Given the description of an element on the screen output the (x, y) to click on. 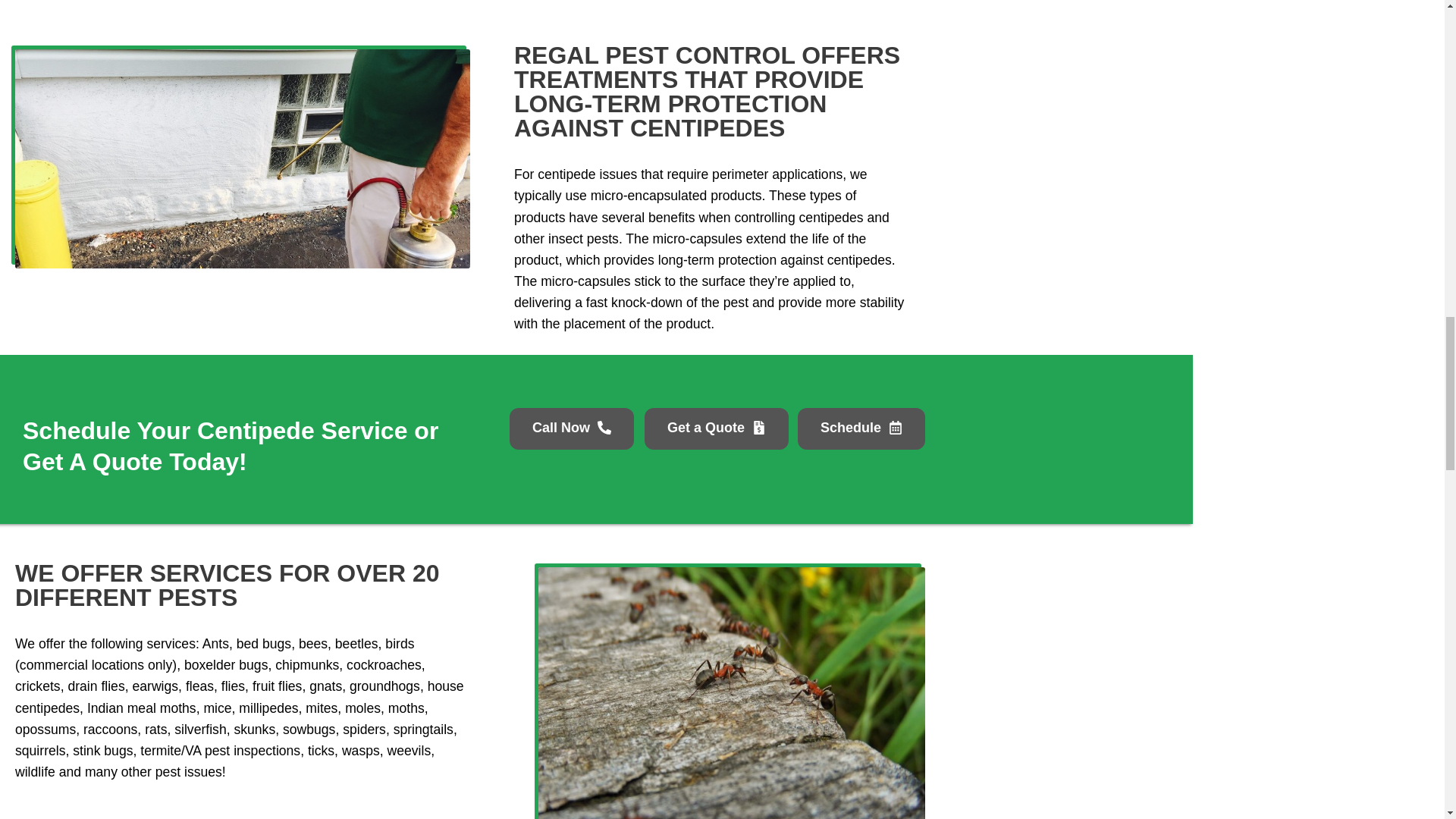
Get a Quote (717, 428)
Call Now (571, 428)
Schedule (860, 428)
